Given the description of an element on the screen output the (x, y) to click on. 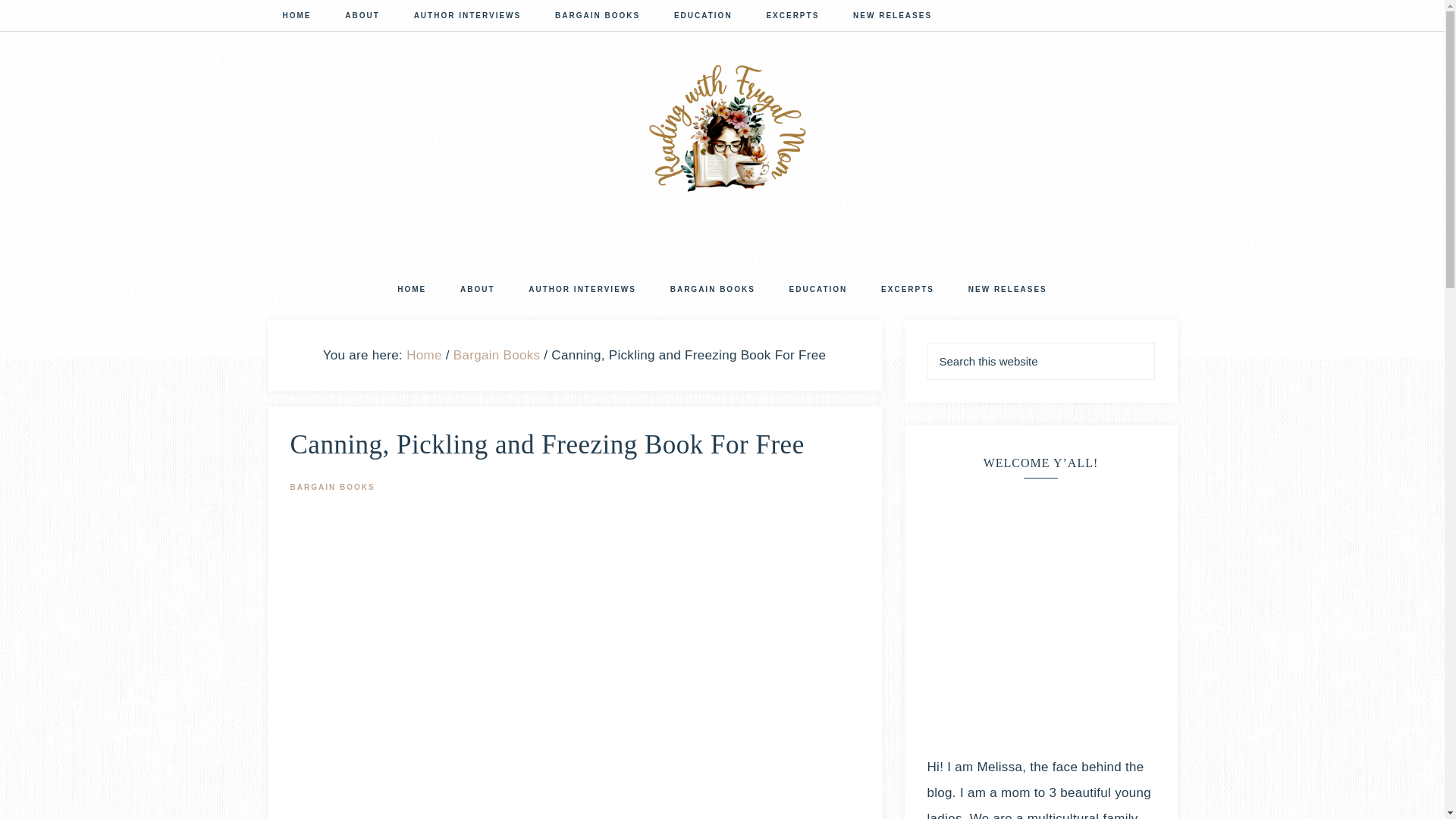
NEW RELEASES (1007, 289)
BARGAIN BOOKS (597, 17)
Bargain Books (496, 354)
EXCERPTS (907, 289)
HOME (296, 17)
ABOUT (362, 17)
EDUCATION (818, 289)
AUTHOR INTERVIEWS (467, 17)
